Given the description of an element on the screen output the (x, y) to click on. 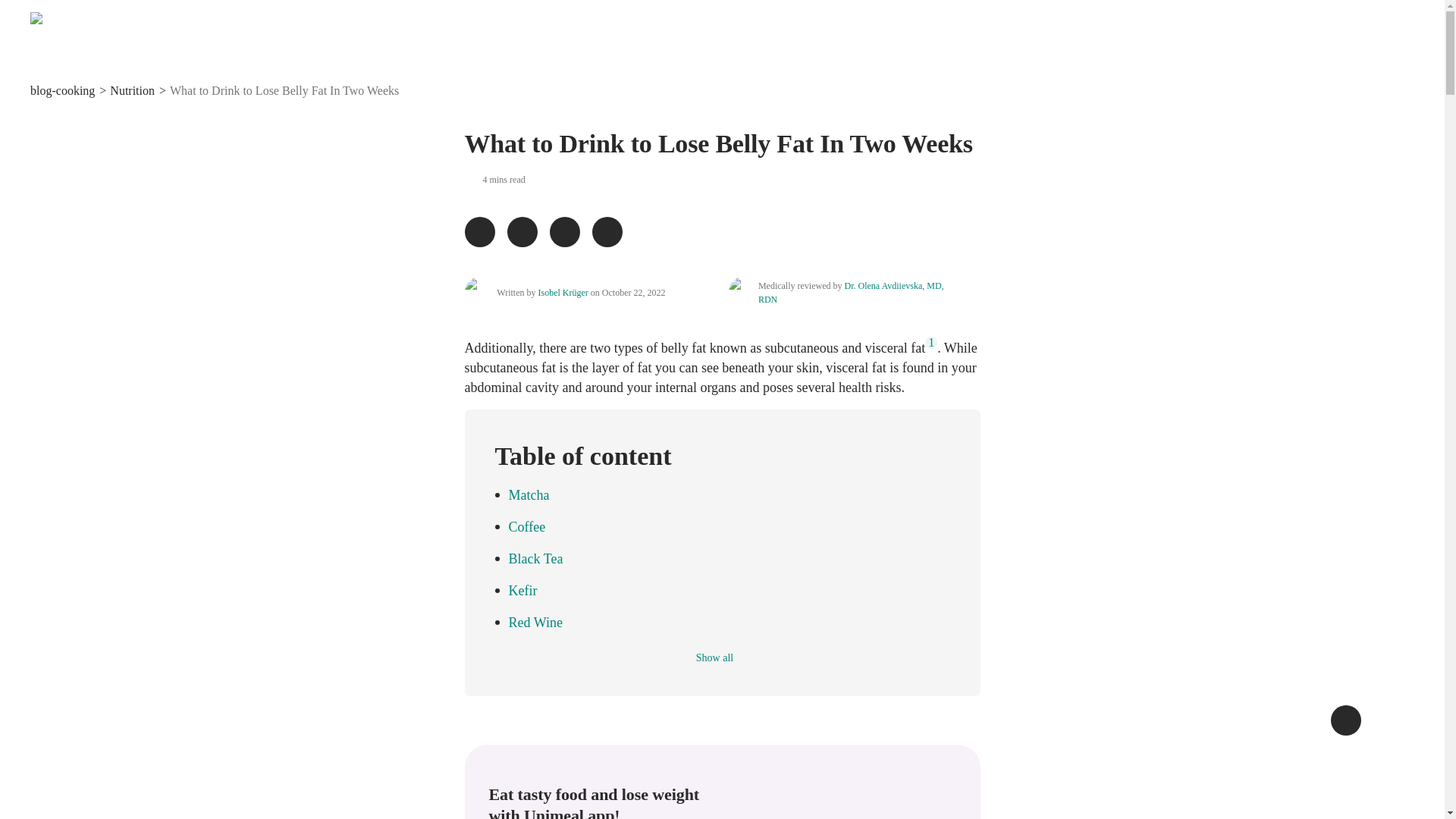
Nutrition (132, 90)
Share by Twitter (521, 232)
Matcha (728, 495)
Coffee (728, 526)
Scroll to top (1345, 720)
Red Wine (728, 622)
Share by Facebook (479, 232)
Black Tea (728, 558)
blog-cooking (62, 90)
Share by Flipboard (563, 232)
